Given the description of an element on the screen output the (x, y) to click on. 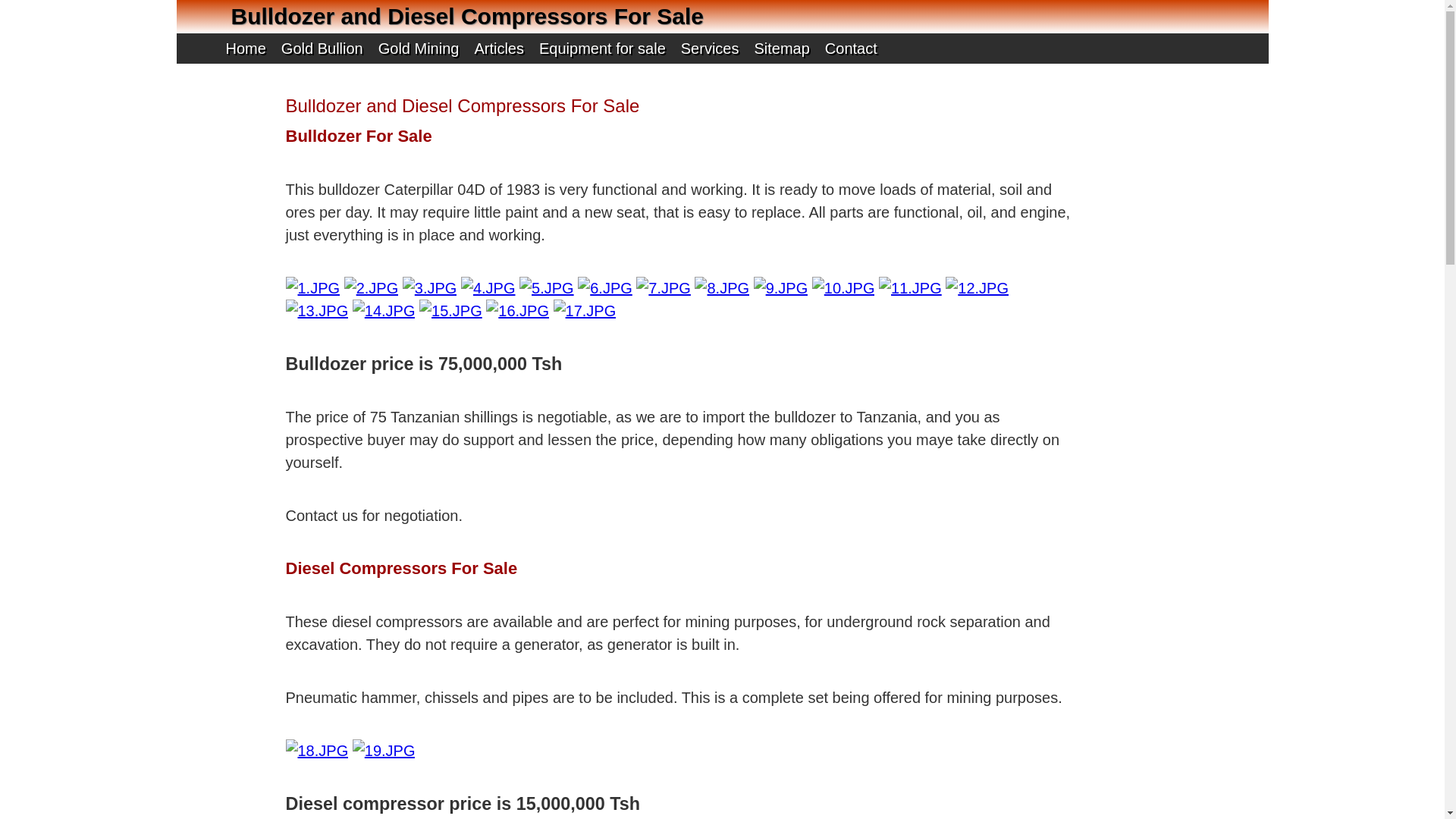
6.JPG (604, 288)
7.JPG (663, 288)
8.JPG (721, 288)
Services (709, 48)
8.JPG (721, 287)
Sitemap (780, 48)
6.JPG (604, 287)
10.JPG (843, 288)
Articles (498, 48)
Home (245, 48)
